Given the description of an element on the screen output the (x, y) to click on. 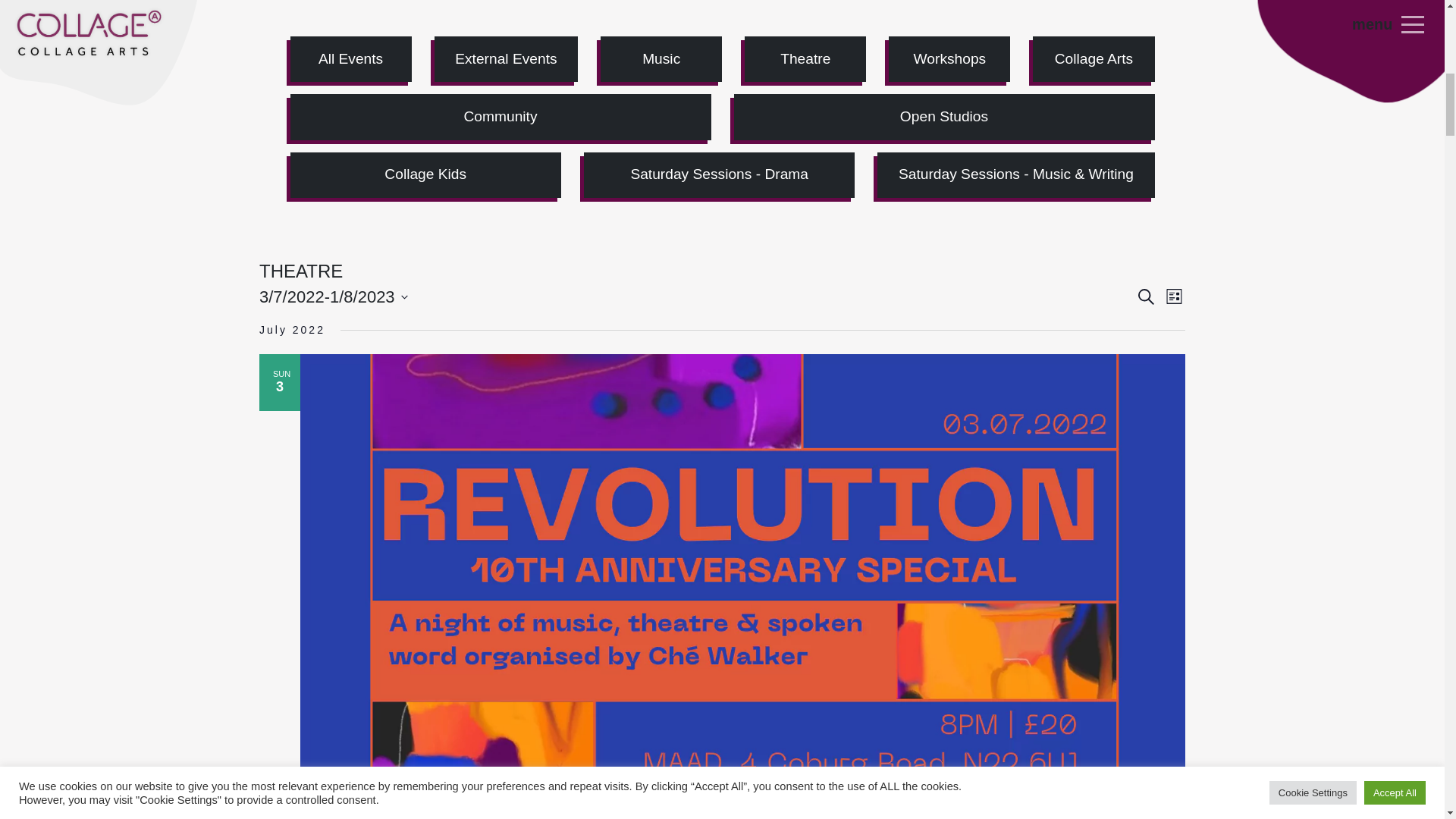
Search (1146, 296)
All Events (349, 58)
Collage Kids (424, 175)
Music (660, 58)
Collage Arts (1093, 58)
Workshops (949, 58)
External Events (505, 58)
Click to toggle datepicker (333, 296)
List (1174, 296)
Saturday Sessions - Drama (718, 175)
Community (499, 116)
Open Studios (943, 116)
Theatre (805, 58)
